Given the description of an element on the screen output the (x, y) to click on. 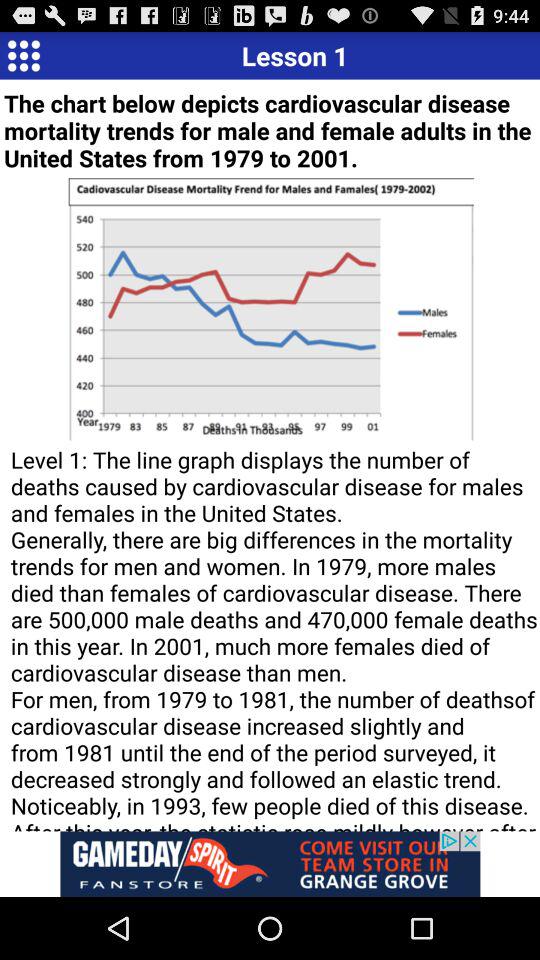
open an advertisements (270, 864)
